Given the description of an element on the screen output the (x, y) to click on. 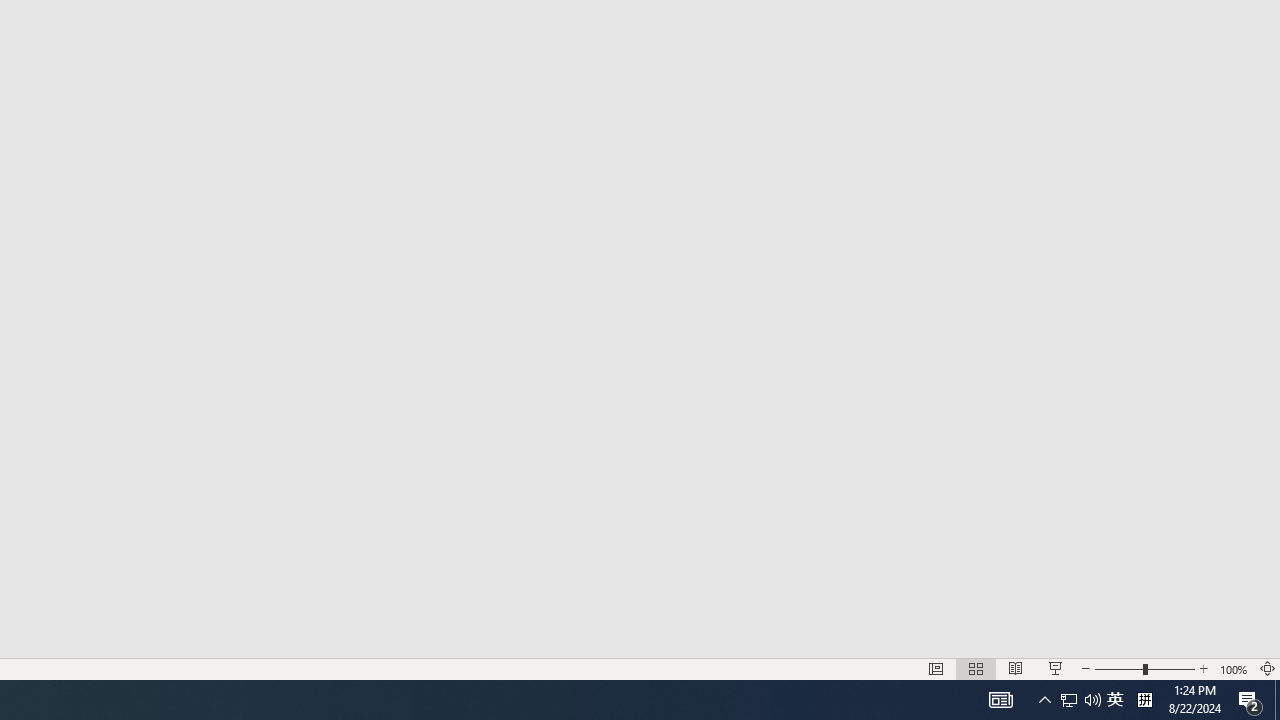
Zoom 100% (1234, 668)
